Given the description of an element on the screen output the (x, y) to click on. 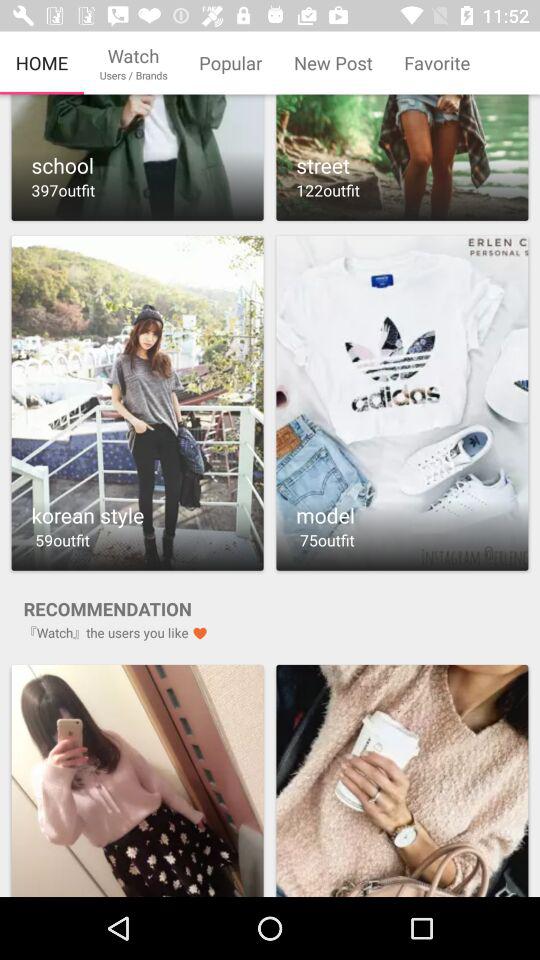
click on school 397 outfit option (137, 158)
